Given the description of an element on the screen output the (x, y) to click on. 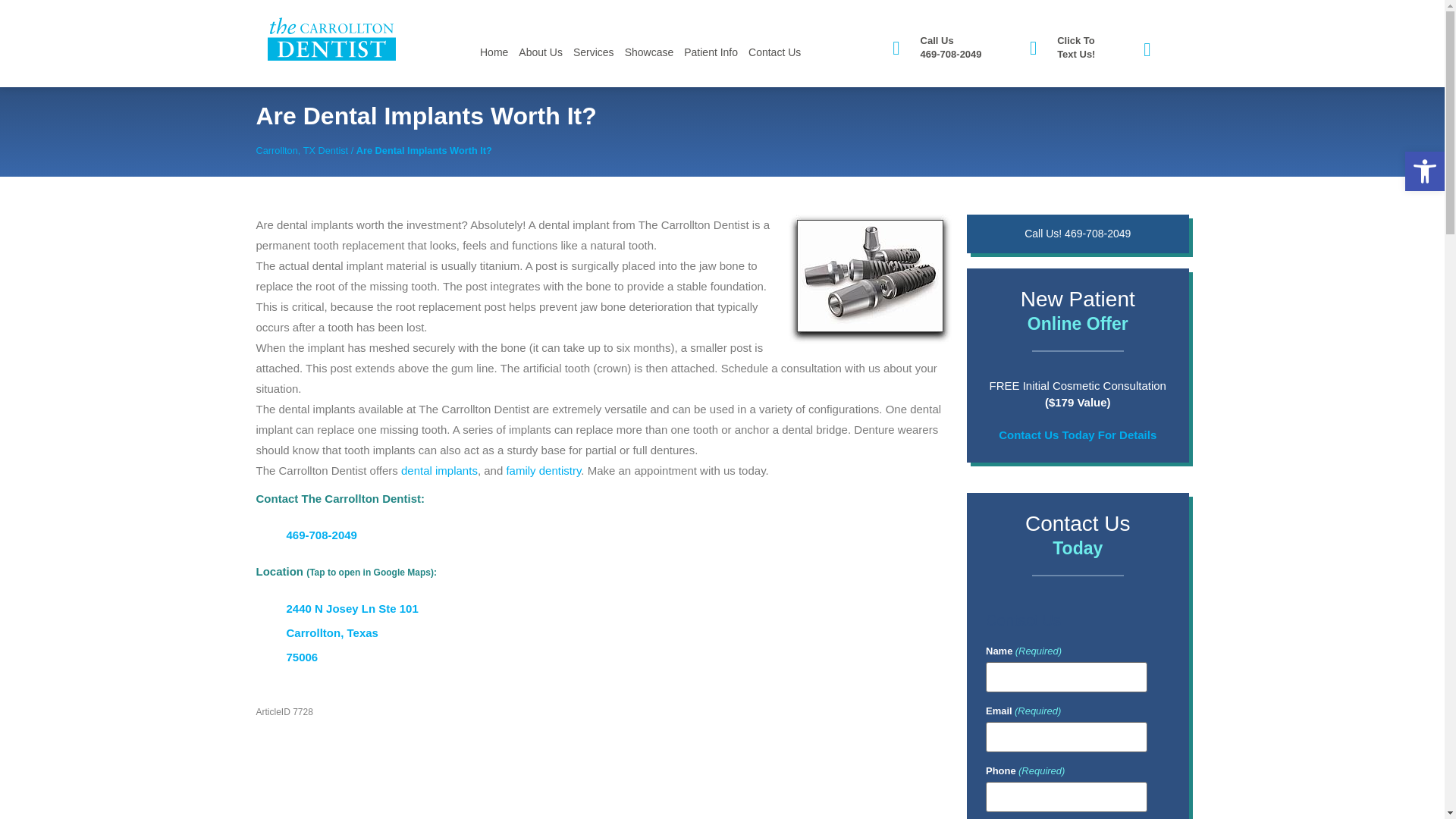
Accessibility Tools (1424, 170)
Home (493, 51)
Services (593, 51)
About Us (540, 51)
